Given the description of an element on the screen output the (x, y) to click on. 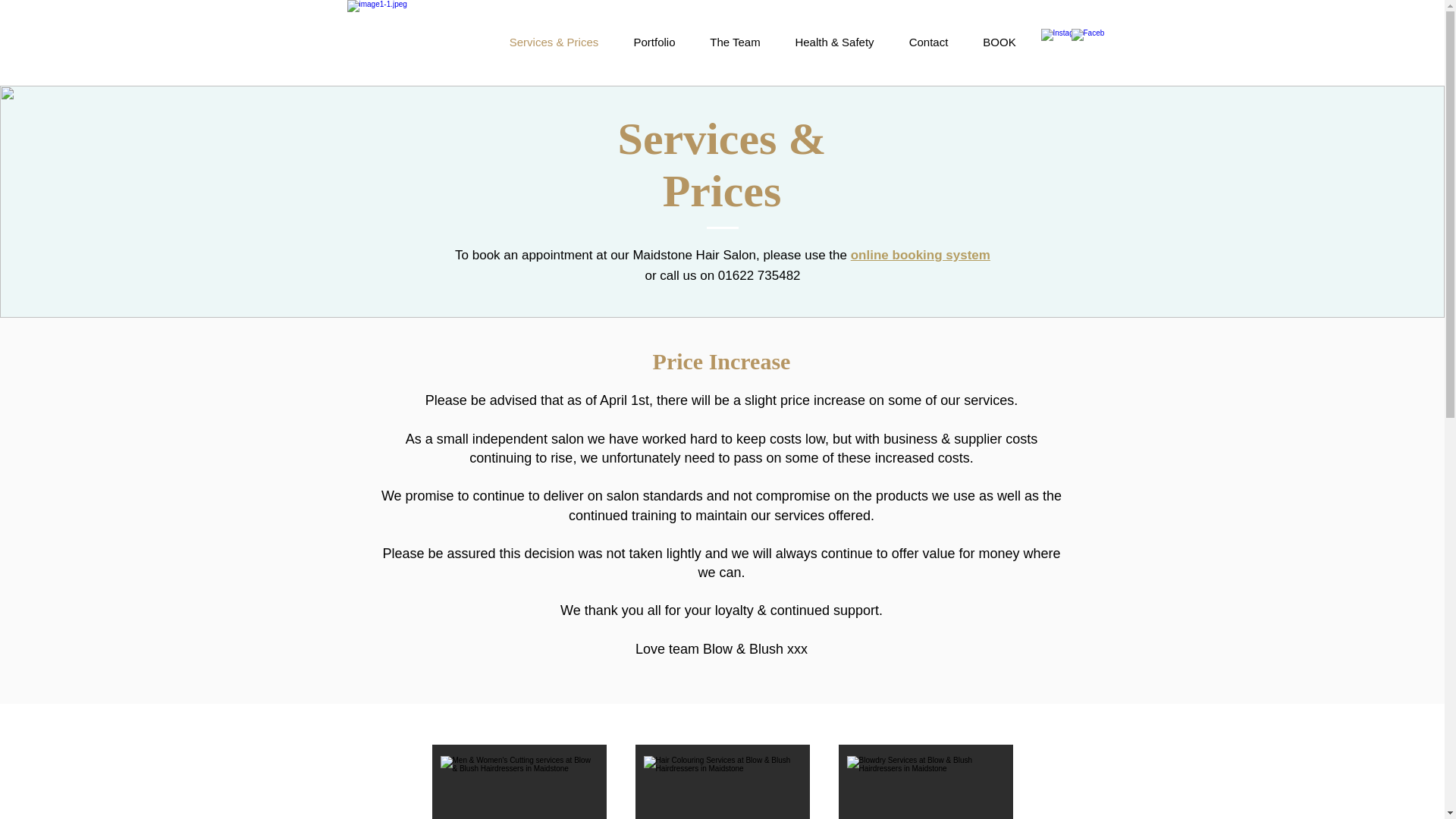
The Team (735, 42)
BOOK (999, 42)
01622 735482 (758, 275)
online booking system (920, 255)
Portfolio (654, 42)
Contact (928, 42)
